Given the description of an element on the screen output the (x, y) to click on. 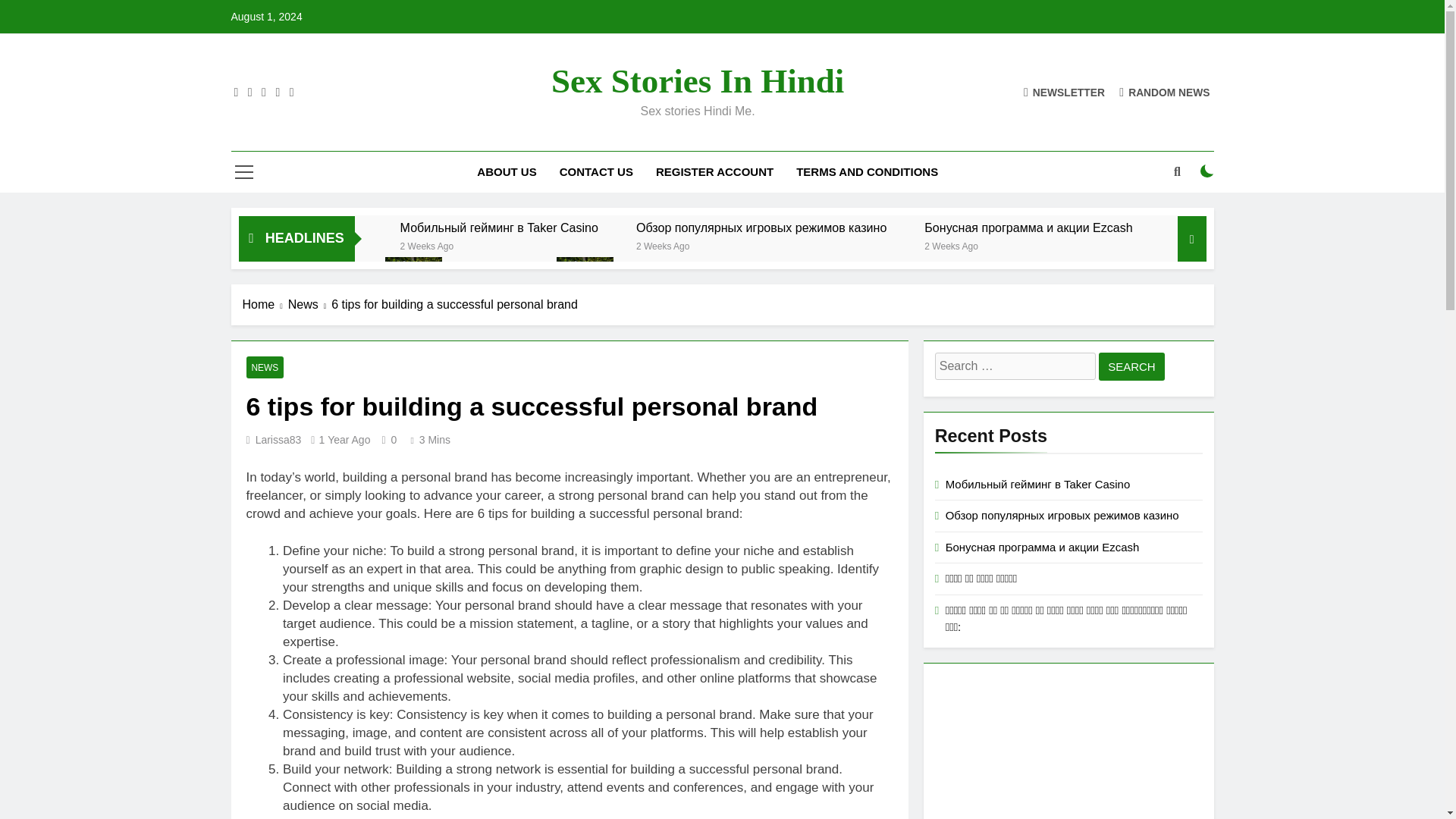
News (309, 304)
NEWS (264, 367)
2 Weeks Ago (427, 245)
ABOUT US (506, 171)
TERMS AND CONDITIONS (866, 171)
CONTACT US (596, 171)
Search (1131, 366)
Sex Stories In Hindi (697, 80)
2 Weeks Ago (951, 245)
NEWSLETTER (1064, 91)
